Given the description of an element on the screen output the (x, y) to click on. 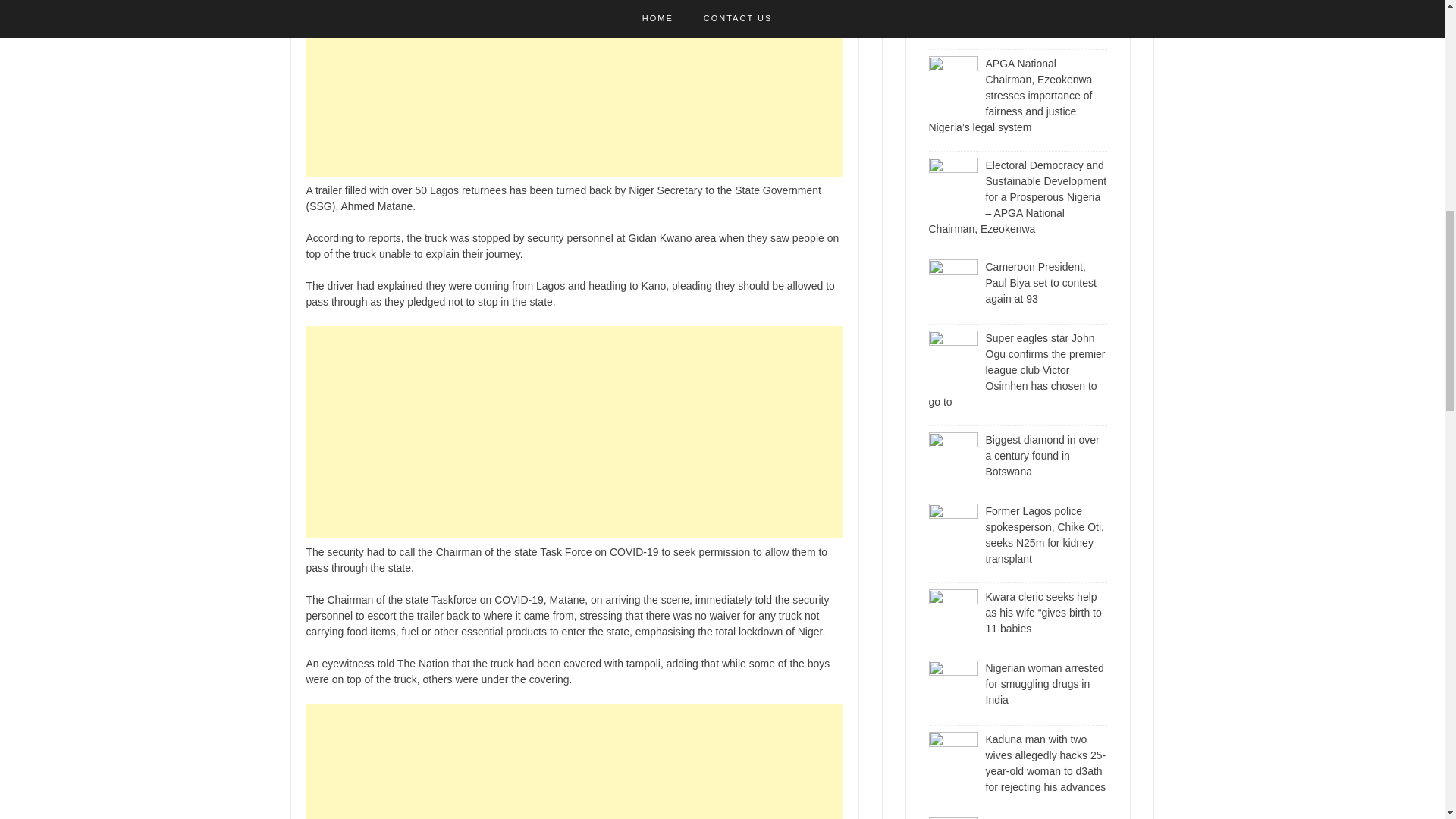
Biggest diamond in over a century found in Botswana (1042, 455)
Cameroon President, Paul Biya set to contest again at 93 (1040, 282)
Nigerian woman arrested for smuggling drugs in India (1044, 683)
